Given the description of an element on the screen output the (x, y) to click on. 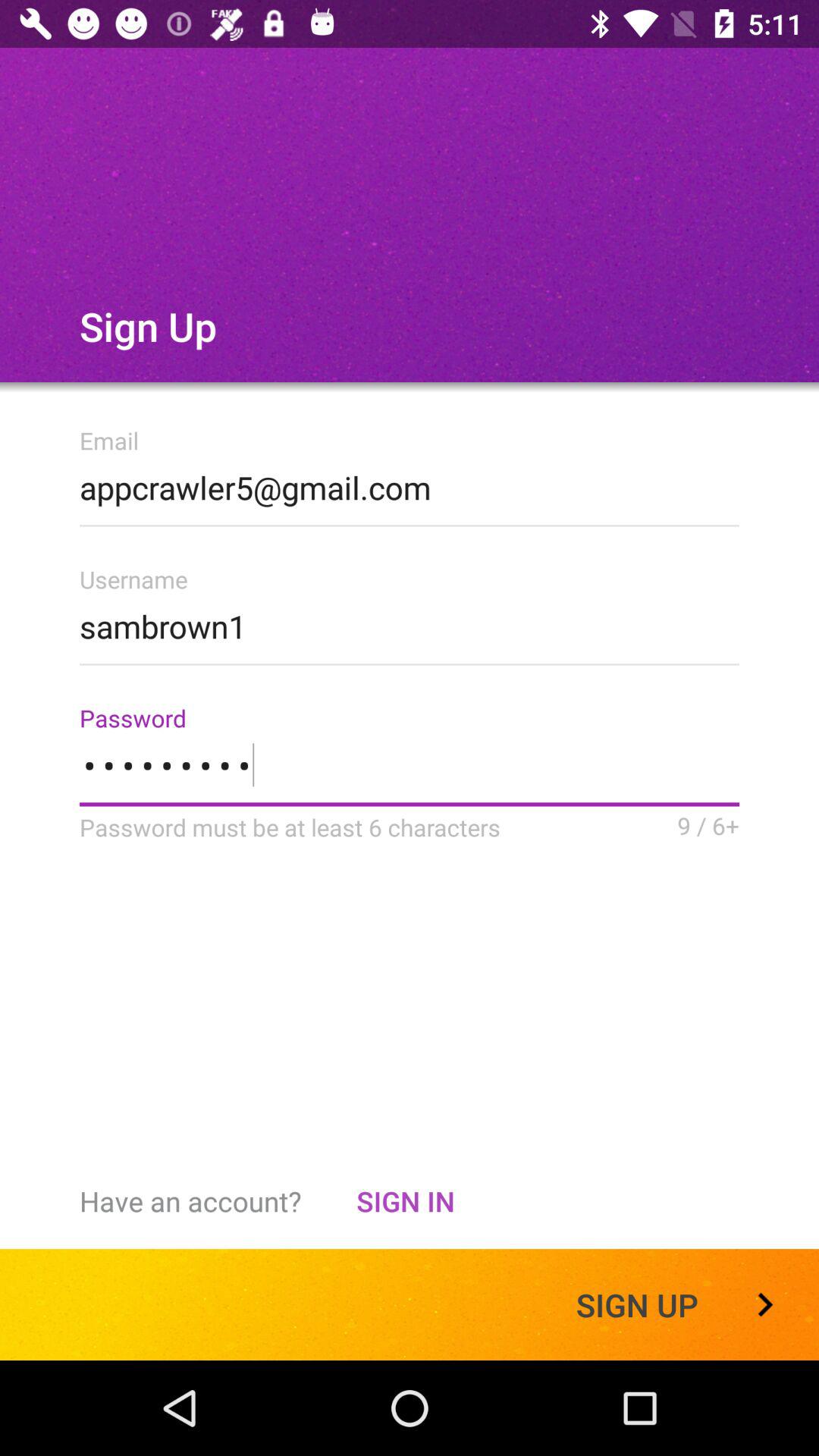
click the icon below appcrawler5@gmail.com icon (409, 621)
